Given the description of an element on the screen output the (x, y) to click on. 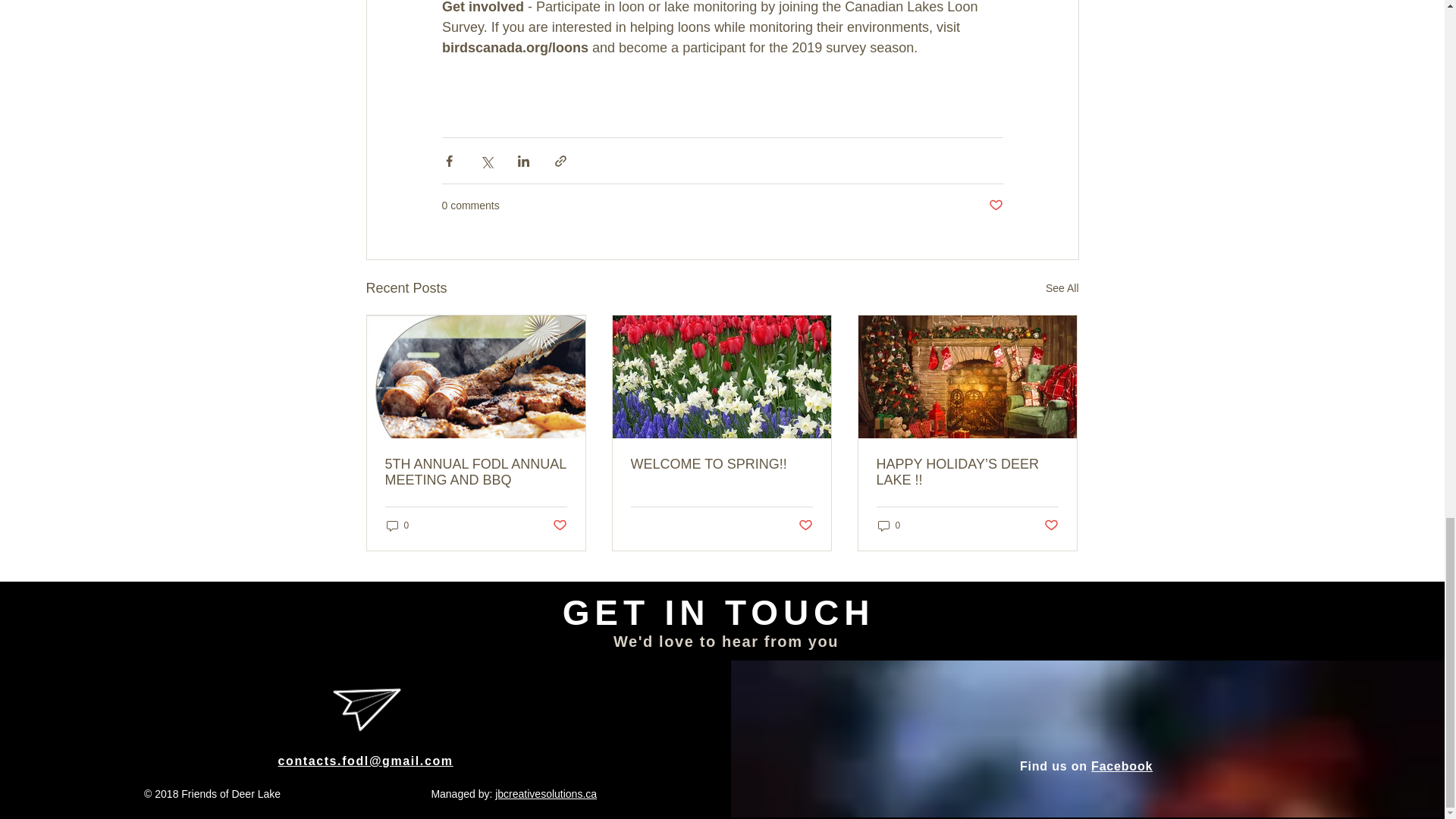
Post not marked as liked (1050, 525)
0 (397, 525)
See All (1061, 288)
Post not marked as liked (558, 525)
WELCOME TO SPRING!! (721, 464)
Post not marked as liked (804, 525)
jbcreativesolutions.ca (545, 793)
Facebook (1121, 766)
5TH ANNUAL FODL ANNUAL MEETING AND BBQ (476, 472)
Post not marked as liked (995, 205)
